Given the description of an element on the screen output the (x, y) to click on. 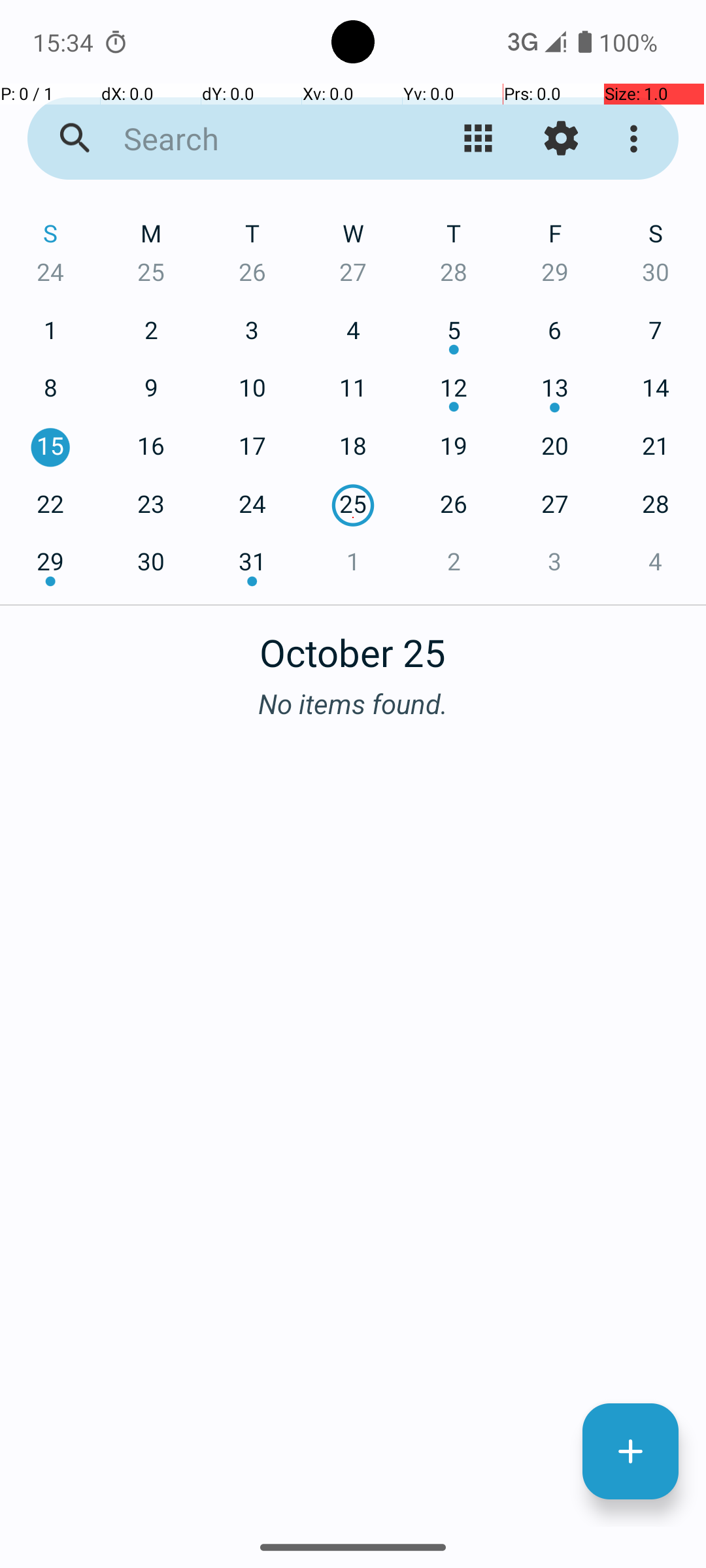
October 25 Element type: android.widget.TextView (352, 644)
